Given the description of an element on the screen output the (x, y) to click on. 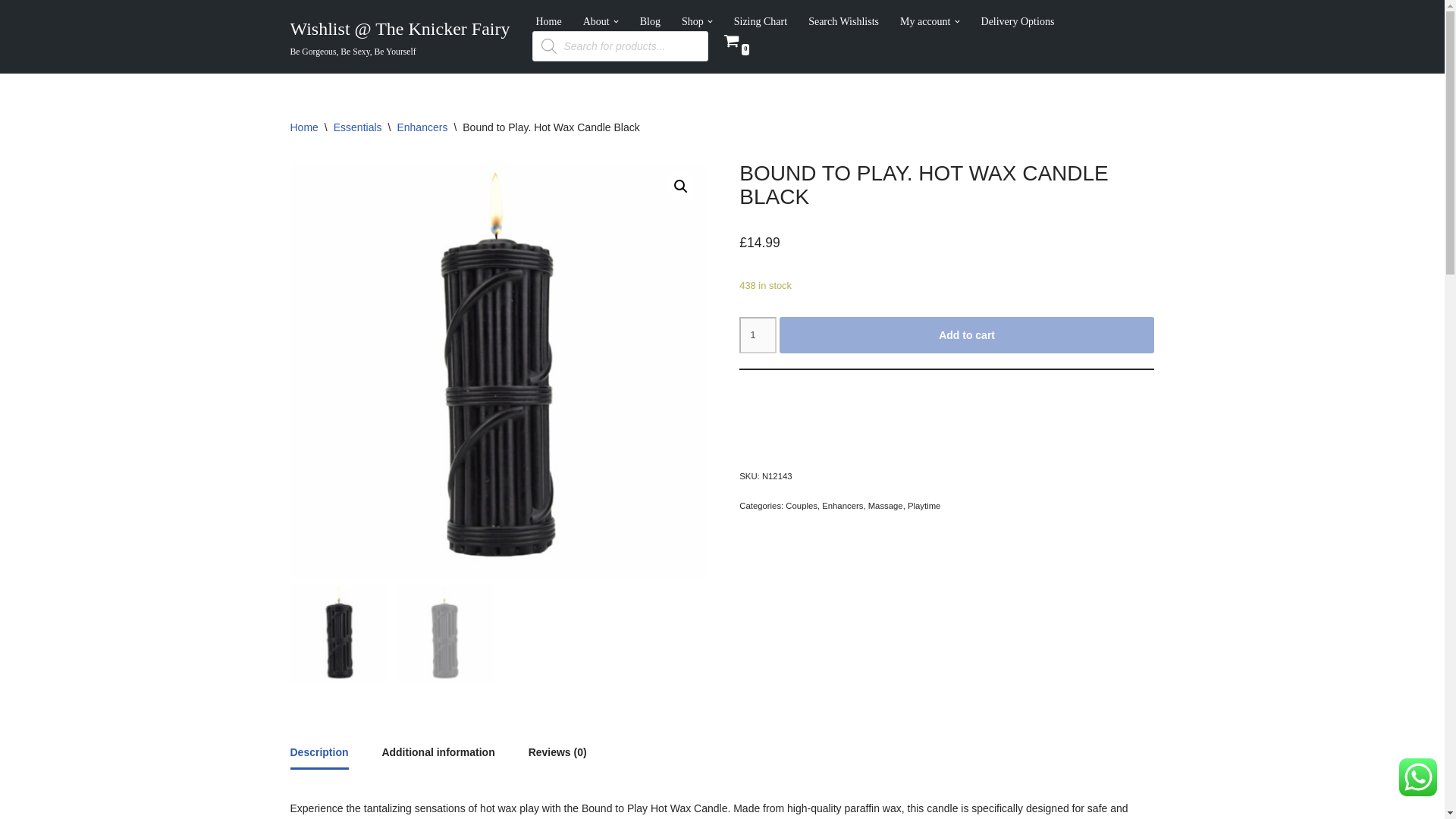
About (596, 21)
PayPal Message 1 (946, 399)
Skip to content (11, 31)
My account (924, 21)
Home (547, 21)
Shop (692, 21)
1 (757, 334)
Blog (650, 21)
Sizing Chart (760, 21)
Delivery Options (1017, 21)
PayPal (946, 433)
Search Wishlists (843, 21)
